Given the description of an element on the screen output the (x, y) to click on. 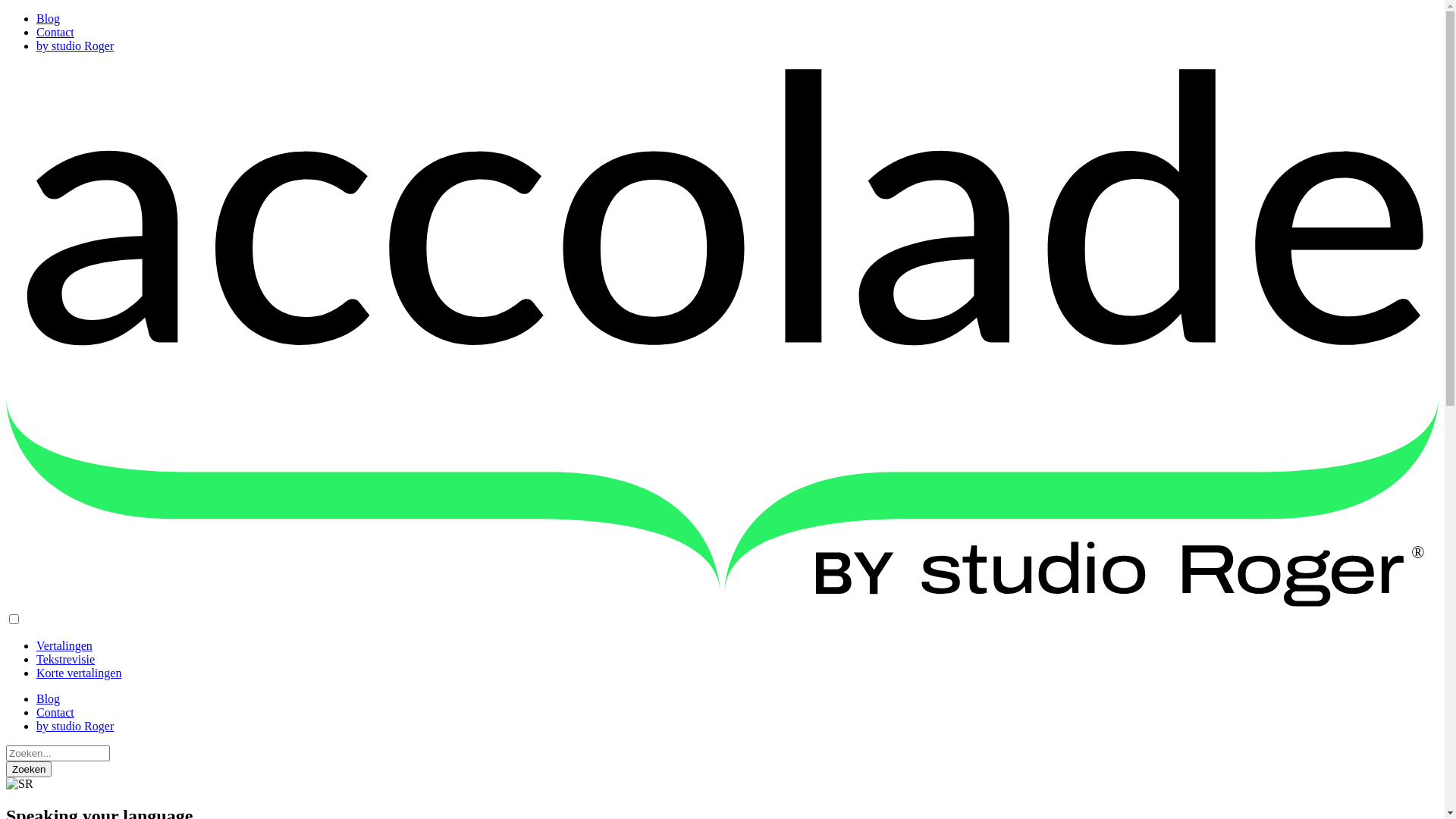
Contact Element type: text (55, 31)
by studio Roger Element type: text (74, 725)
Korte vertalingen Element type: text (78, 672)
Vertalingen Element type: text (64, 645)
Blog Element type: text (47, 698)
Zoeken Element type: text (28, 769)
by studio Roger Element type: text (74, 45)
Blog Element type: text (47, 18)
Overslaan en naar de inhoud gaan Element type: text (6, 12)
Geef de woorden op waarnaar u wilt zoeken. Element type: hover (57, 753)
Contact Element type: text (55, 712)
Tekstrevisie Element type: text (65, 658)
